Given the description of an element on the screen output the (x, y) to click on. 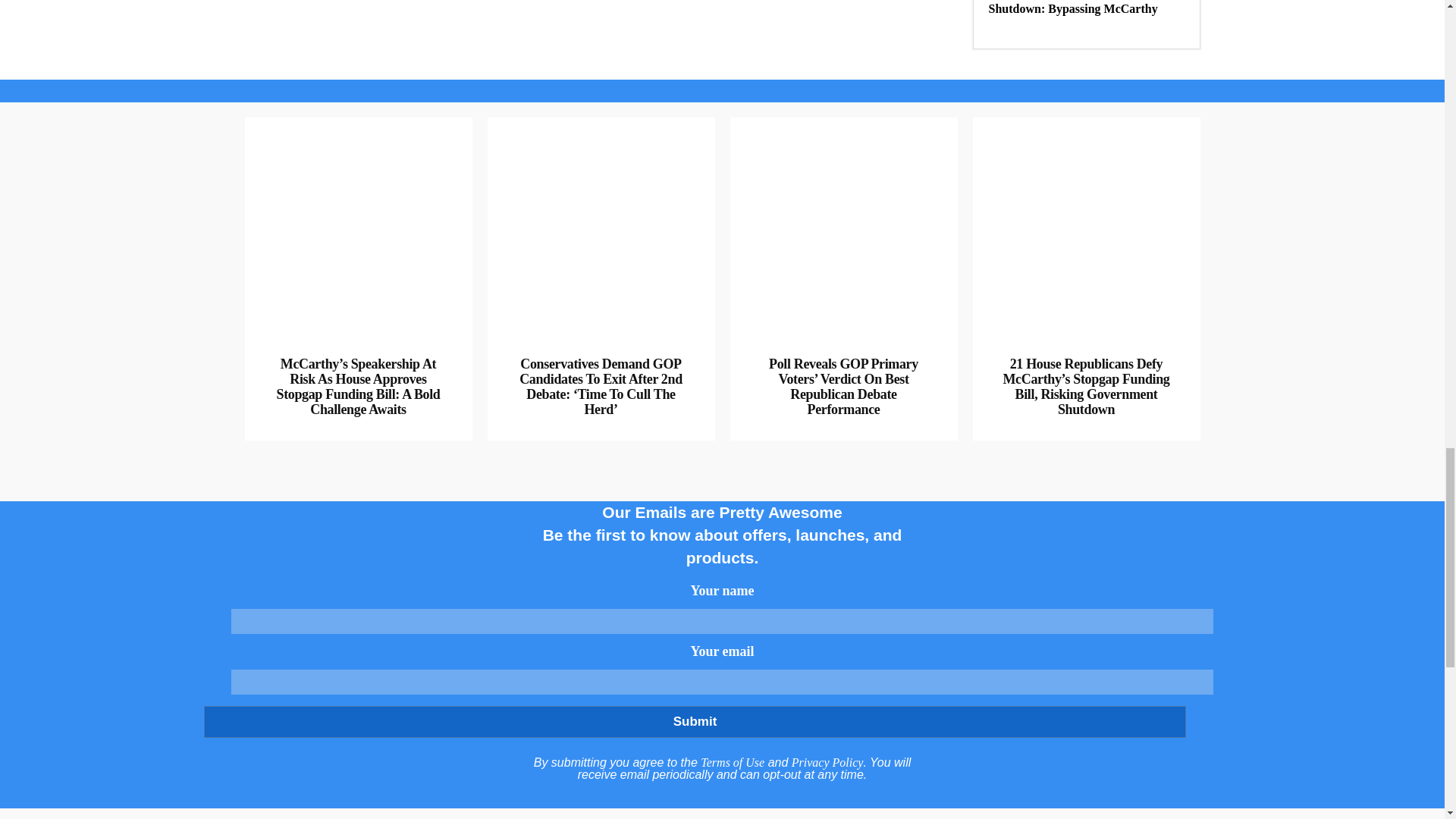
Submit (694, 721)
